Given the description of an element on the screen output the (x, y) to click on. 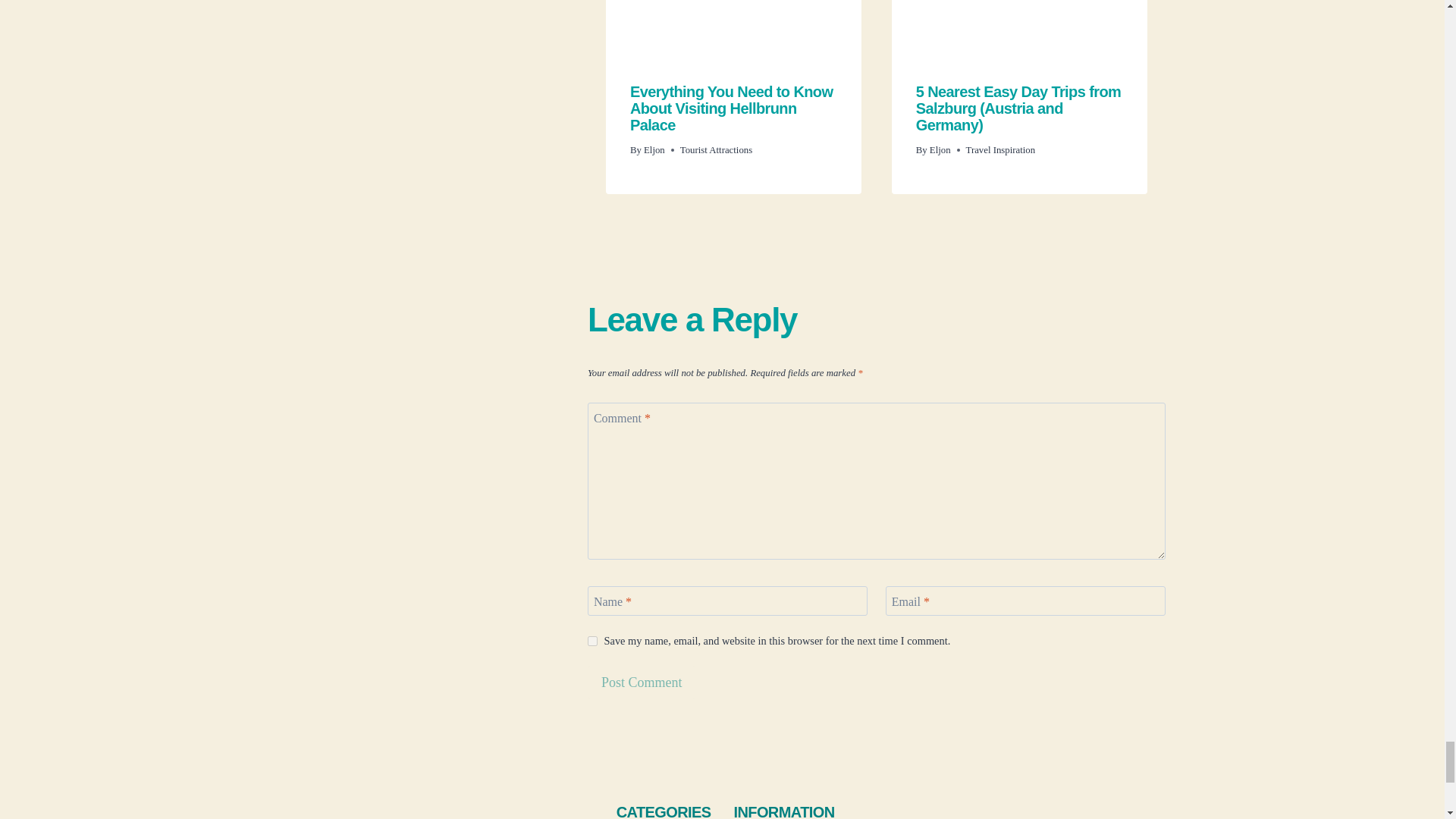
yes (592, 641)
Post Comment (641, 681)
